Given the description of an element on the screen output the (x, y) to click on. 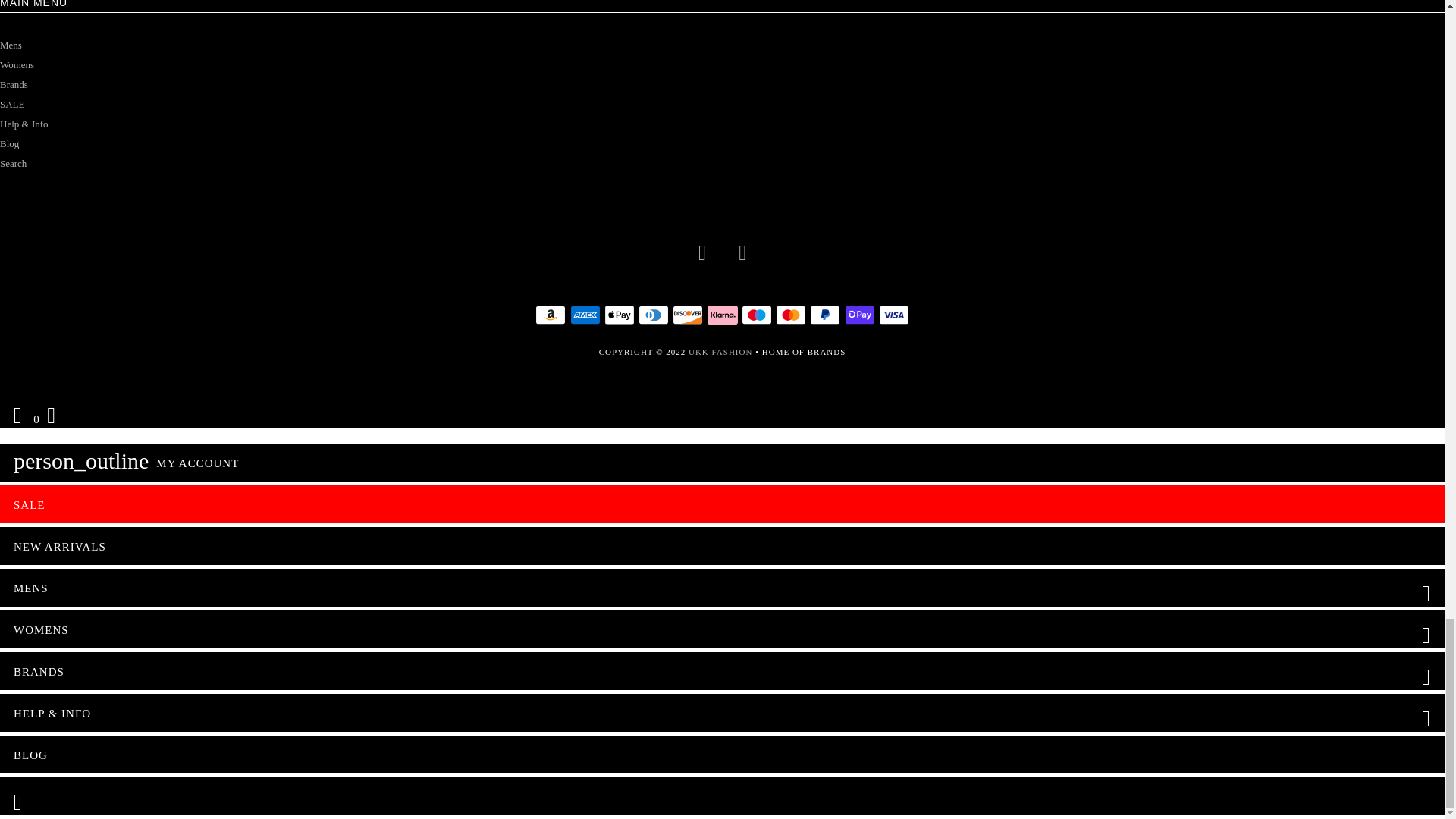
Visa (893, 315)
Mastercard (791, 315)
Apple Pay (619, 315)
Shop Pay (859, 315)
Klarna (721, 315)
Maestro (756, 315)
PayPal (824, 315)
Amazon (550, 315)
American Express (584, 315)
Diners Club (653, 315)
Discover (687, 315)
